Given the description of an element on the screen output the (x, y) to click on. 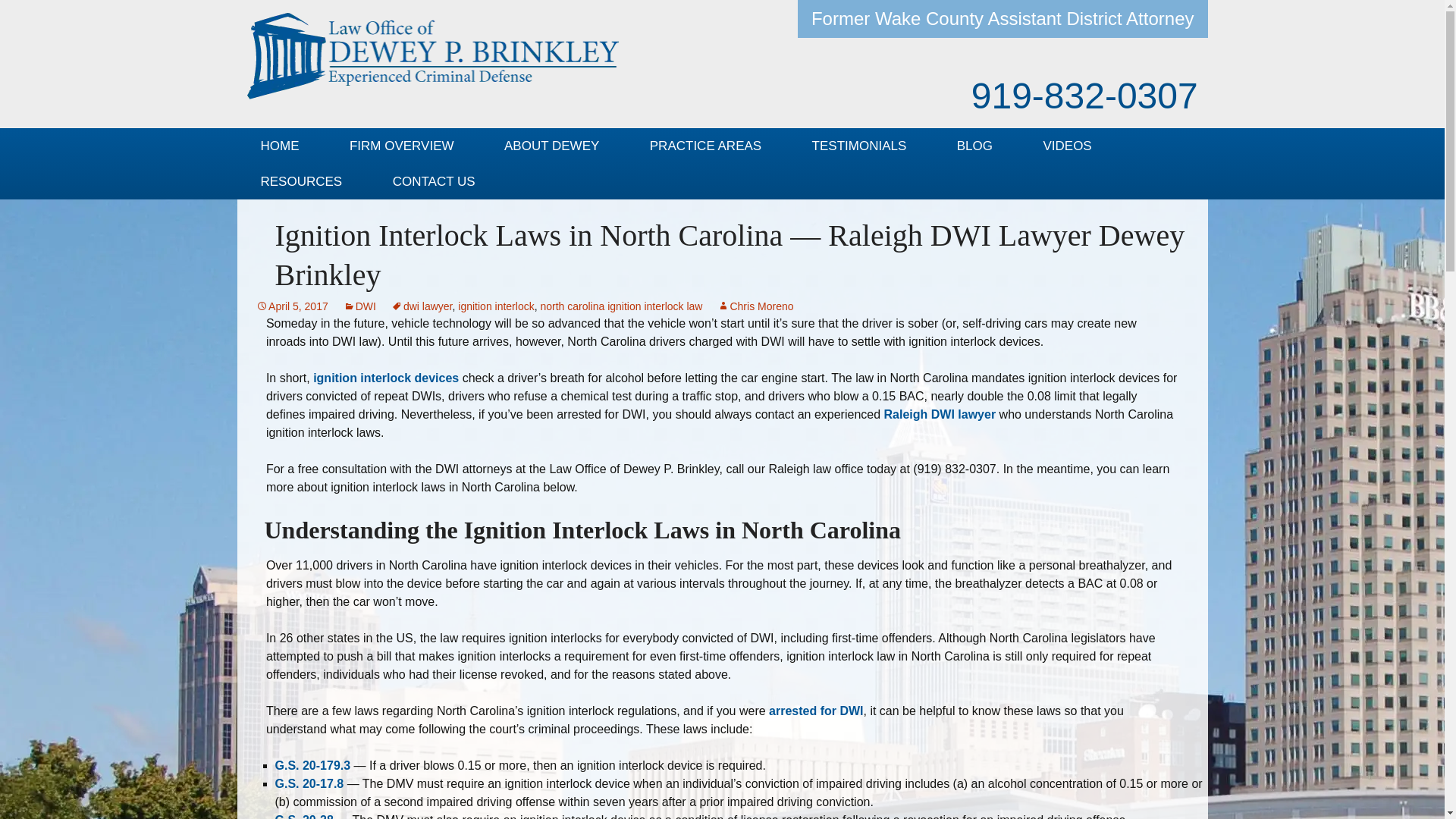
DWI (747, 178)
919-832-0307 (1084, 96)
ABOUT DEWEY (551, 145)
PRACTICE AREAS (705, 145)
FIRM OVERVIEW (401, 145)
HOME (278, 145)
View all posts by Chris Moreno (755, 306)
